Given the description of an element on the screen output the (x, y) to click on. 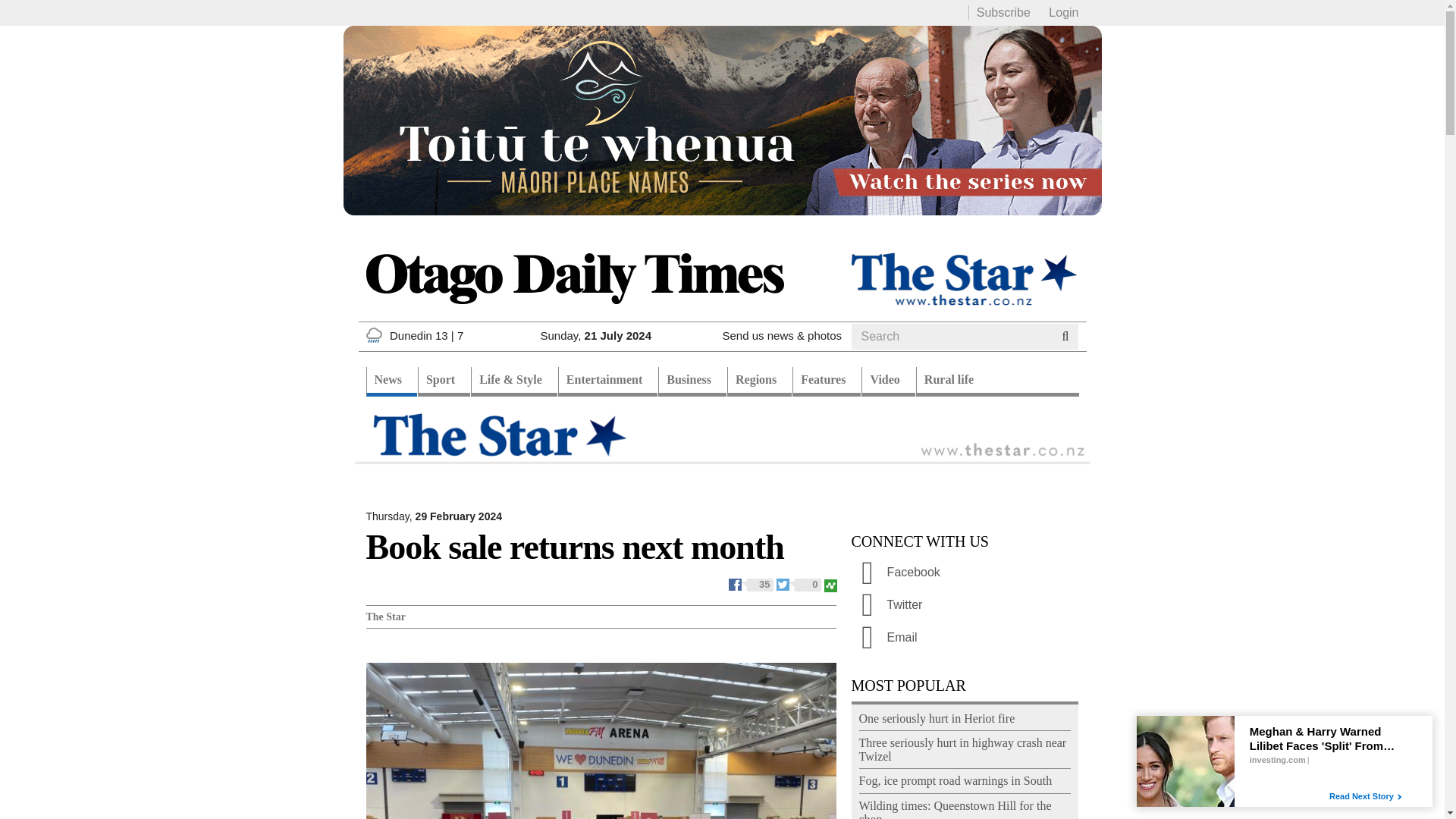
Enter the terms you wish to search for. (951, 336)
Twitter (800, 583)
Subscribe (1003, 11)
ShareThis (829, 583)
Showers (373, 335)
Sport (443, 381)
Facebook (752, 583)
News (390, 381)
Home (574, 277)
Login (1063, 11)
Search (879, 354)
